Given the description of an element on the screen output the (x, y) to click on. 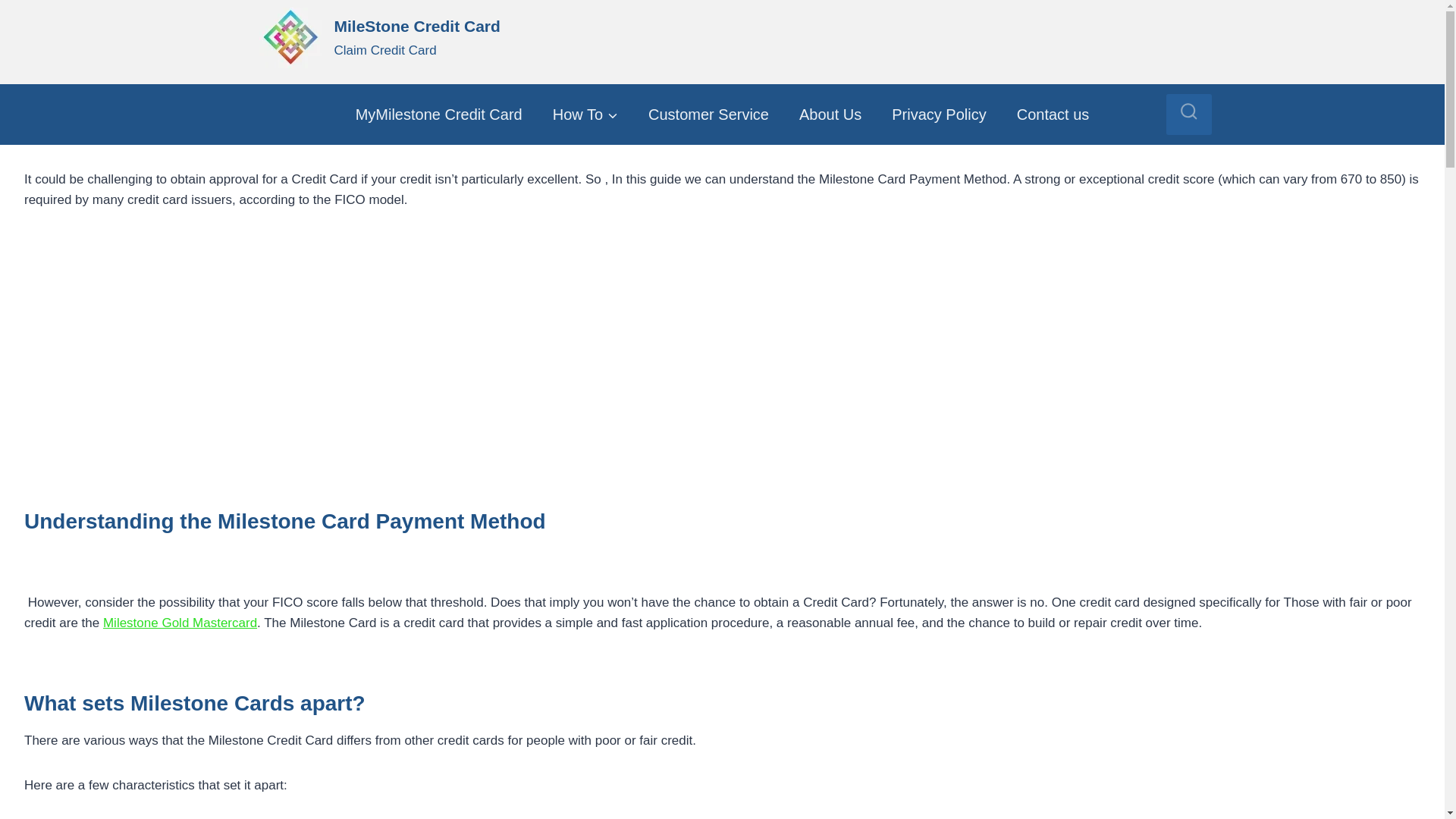
Customer Service (708, 114)
Contact us (1053, 114)
How To (585, 114)
Privacy Policy (938, 114)
About Us (379, 37)
Milestone Gold Mastercard (830, 114)
MyMilestone Credit Card (180, 622)
